Given the description of an element on the screen output the (x, y) to click on. 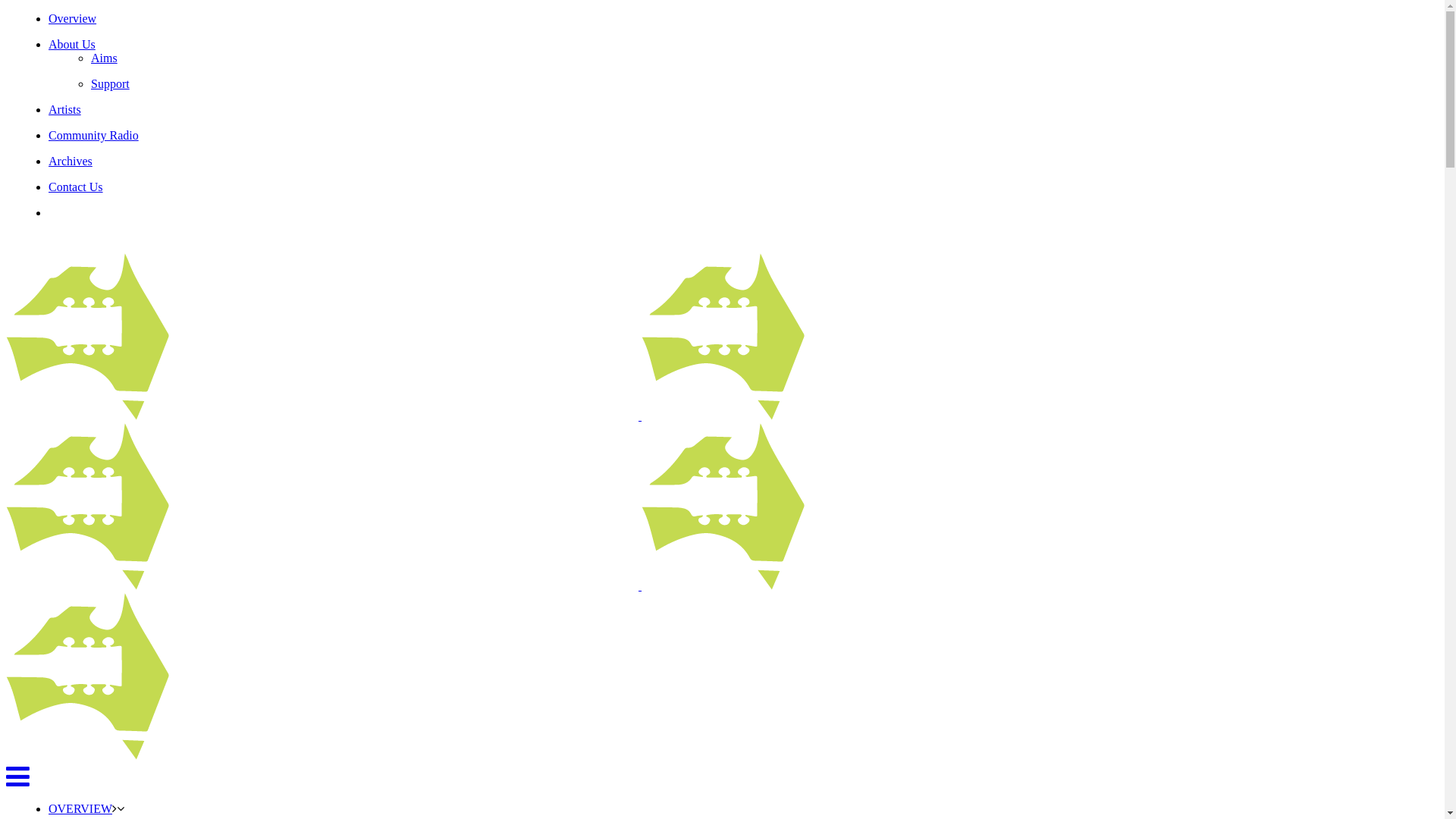
About Us Element type: text (71, 43)
OVERVIEW Element type: text (80, 808)
Archives Element type: text (70, 160)
Support Element type: text (110, 83)
Community Radio Element type: text (93, 134)
Aims Element type: text (104, 57)
Overview Element type: text (72, 18)
Artists Element type: text (64, 109)
Contact Us Element type: text (75, 186)
